Given the description of an element on the screen output the (x, y) to click on. 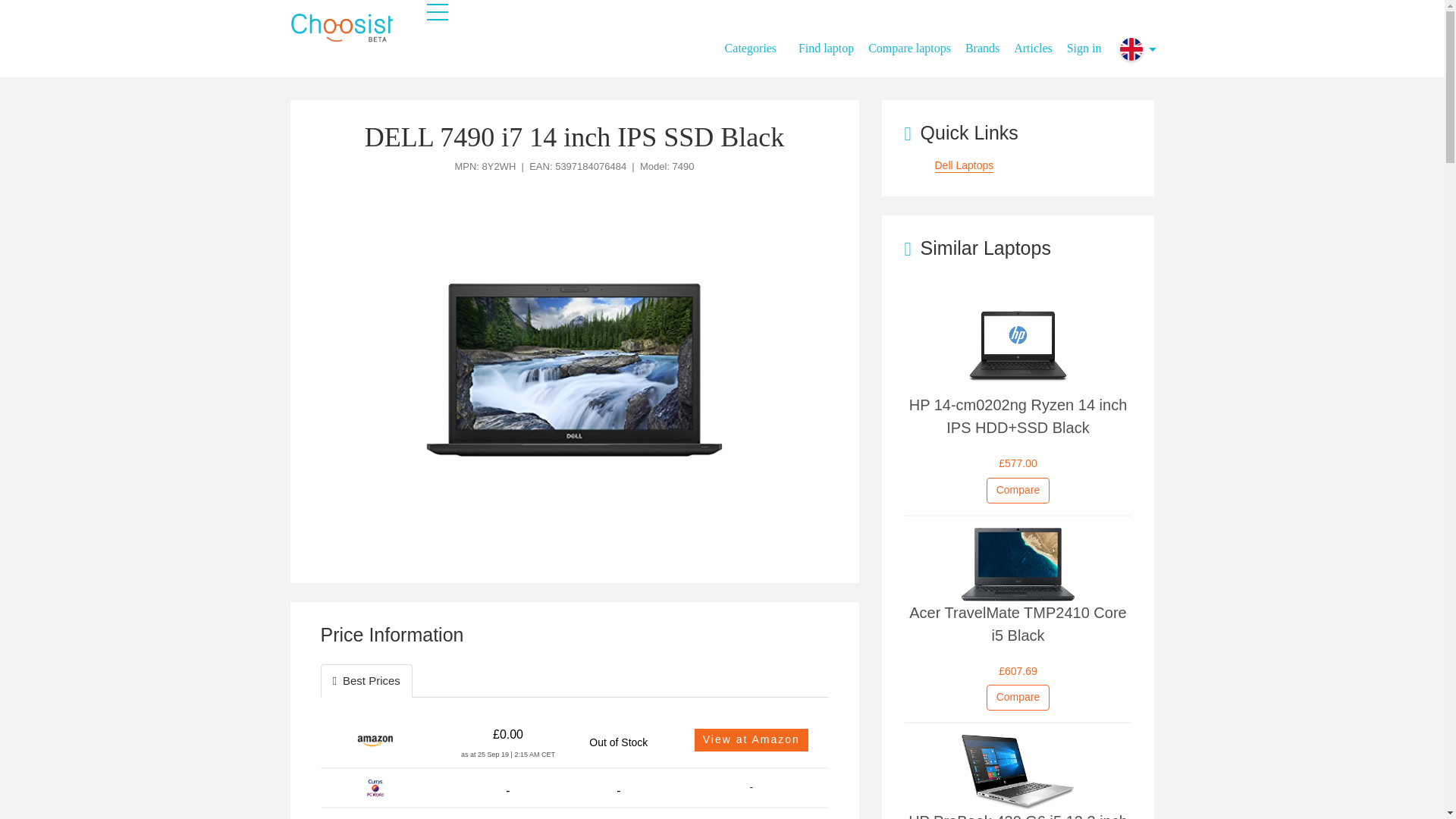
View at Amazon (751, 739)
Articles (1038, 41)
Brands (987, 41)
Sign in (1084, 41)
Compare (1018, 490)
Compare laptops (914, 41)
Compare (1018, 697)
Dell Laptops (963, 165)
Categories (756, 49)
Best Prices (366, 680)
Find laptop (830, 41)
United Kingdom (1130, 48)
